Given the description of an element on the screen output the (x, y) to click on. 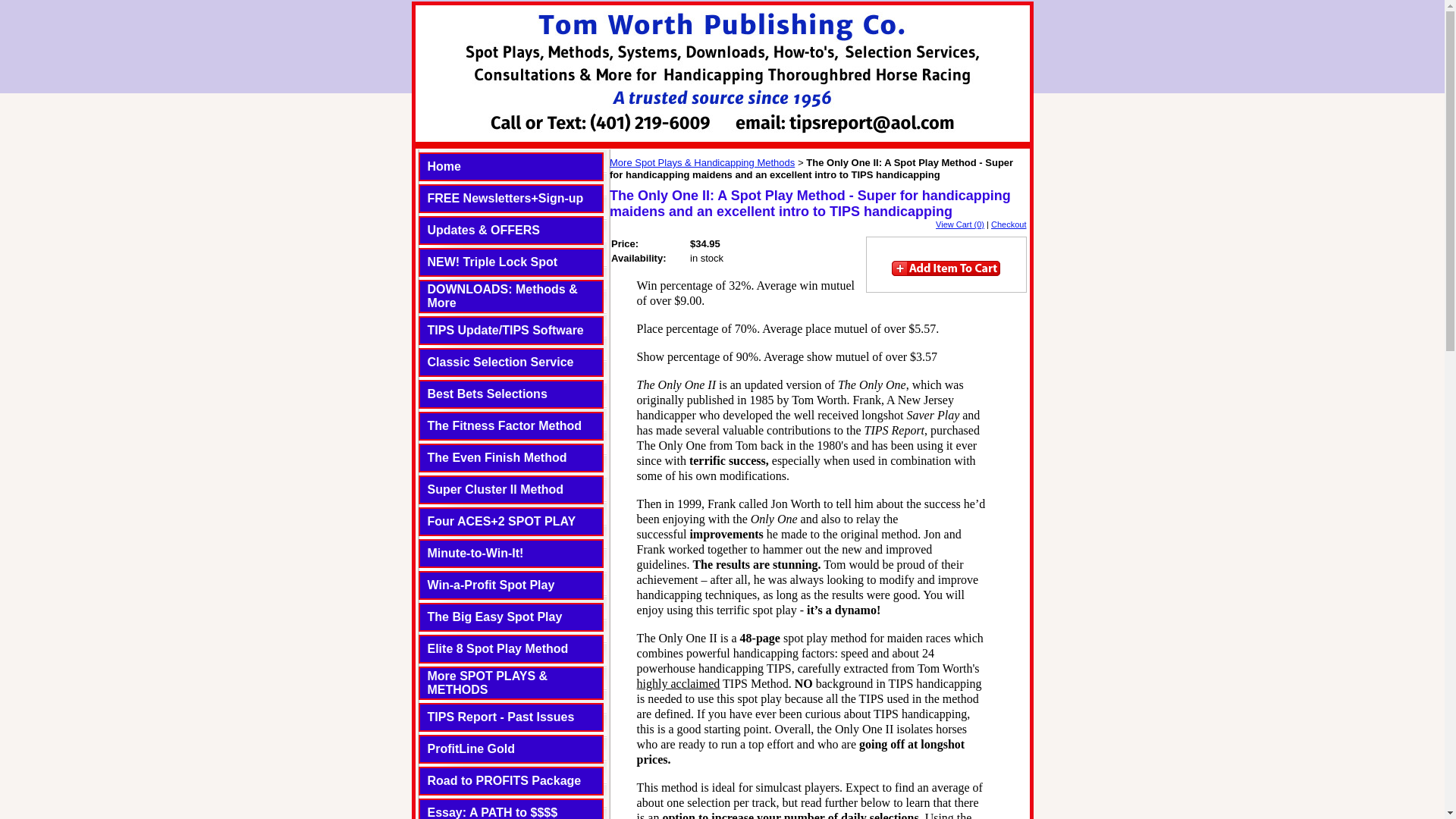
Elite 8 Spot Play Method (498, 648)
The Even Finish Method (497, 457)
NEW! Triple Lock Spot (492, 261)
ProfitLine Gold (471, 748)
Super Cluster II Method (496, 489)
Classic Selection Service (500, 361)
Minute-to-Win-It! (476, 553)
Win-a-Profit Spot Play (491, 584)
TIPS Report - Past Issues (501, 716)
Best Bets Selections (487, 393)
The Big Easy Spot Play (495, 616)
Road to PROFITS Package (504, 780)
Home (444, 165)
The Fitness Factor Method (505, 425)
